Given the description of an element on the screen output the (x, y) to click on. 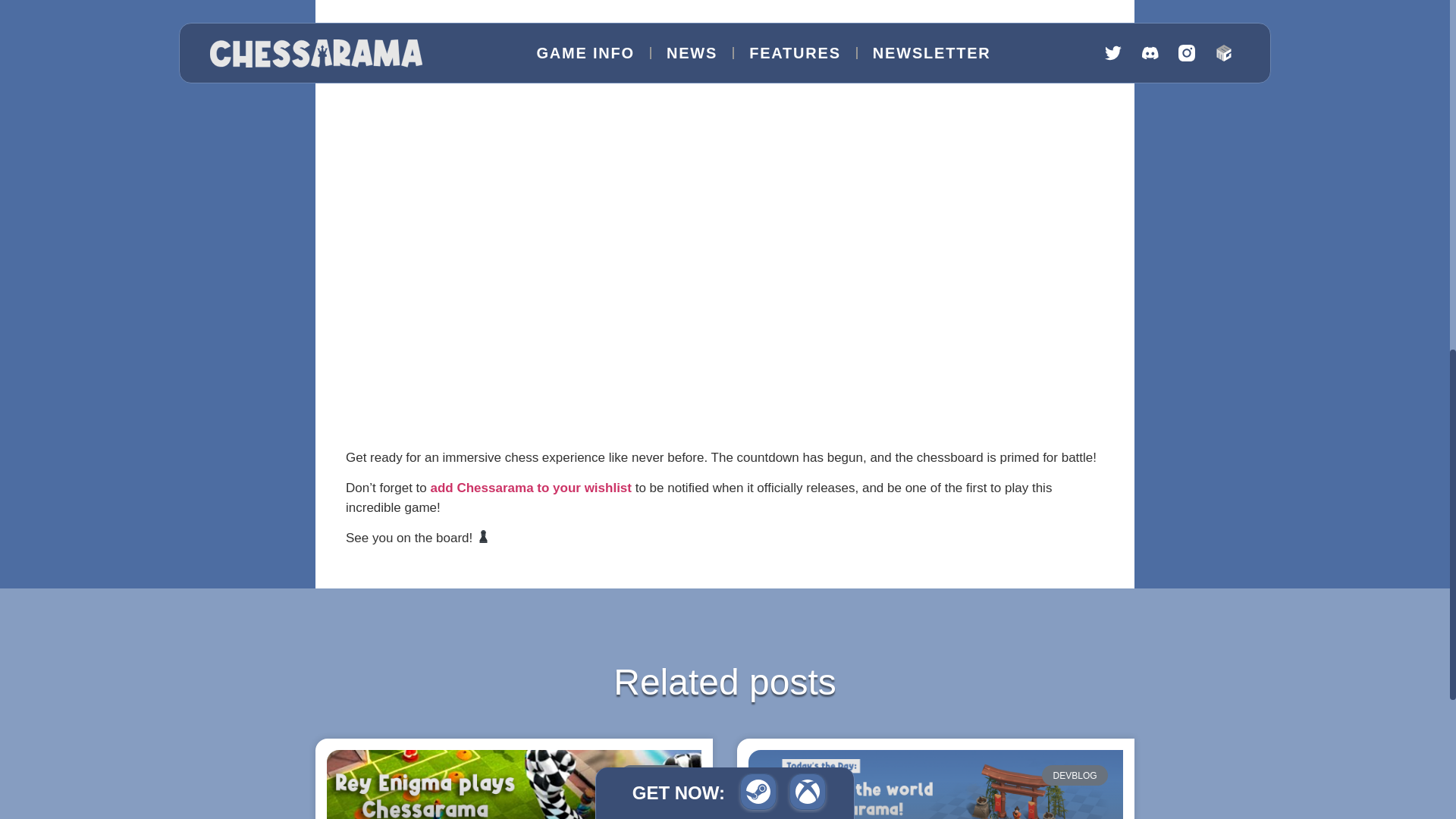
add Chessarama to your wishlist (530, 487)
